Given the description of an element on the screen output the (x, y) to click on. 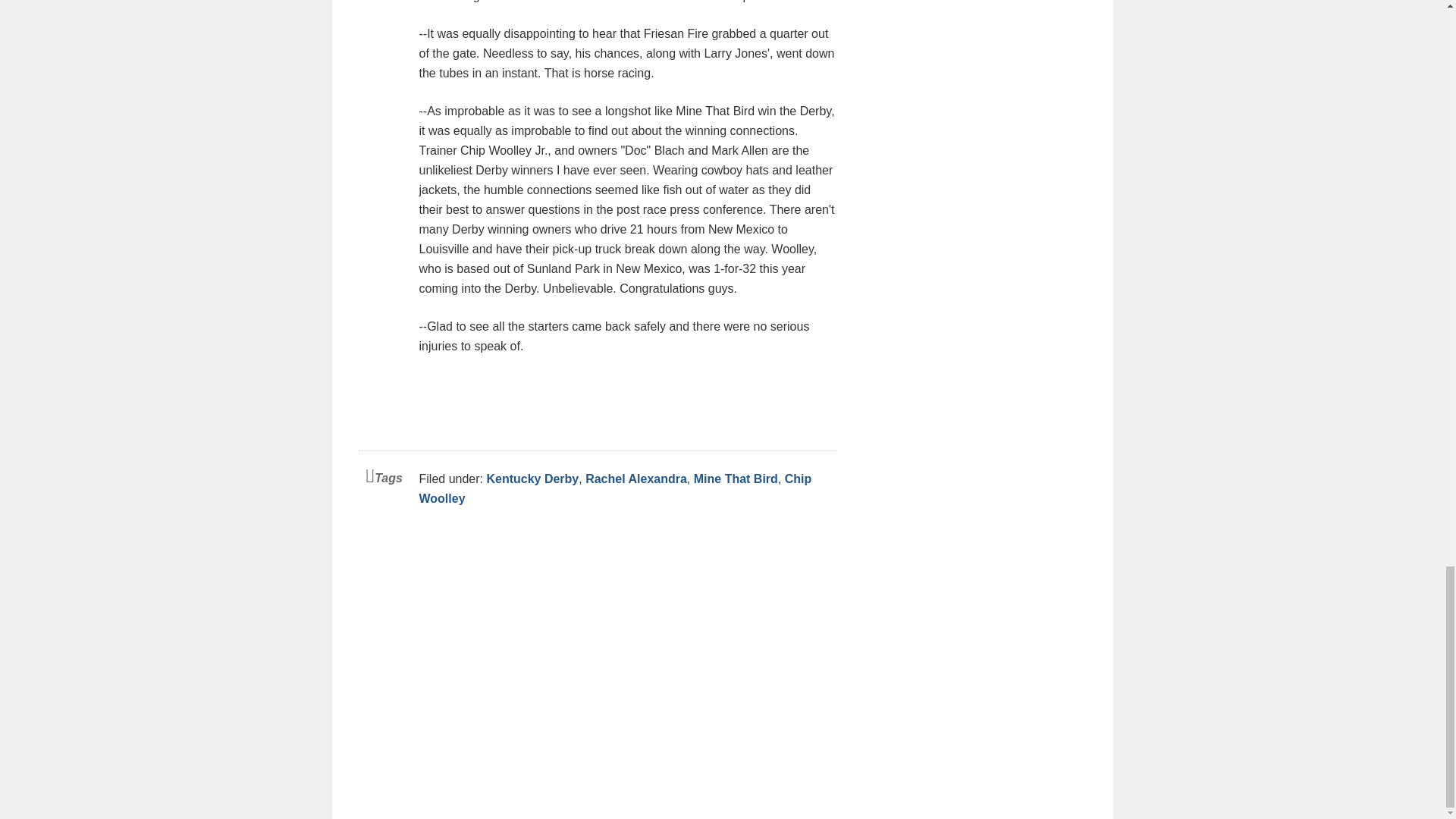
Chip Woolley (614, 488)
Mine That Bird (735, 478)
Kentucky Derby (532, 478)
Rachel Alexandra (636, 478)
